Given the description of an element on the screen output the (x, y) to click on. 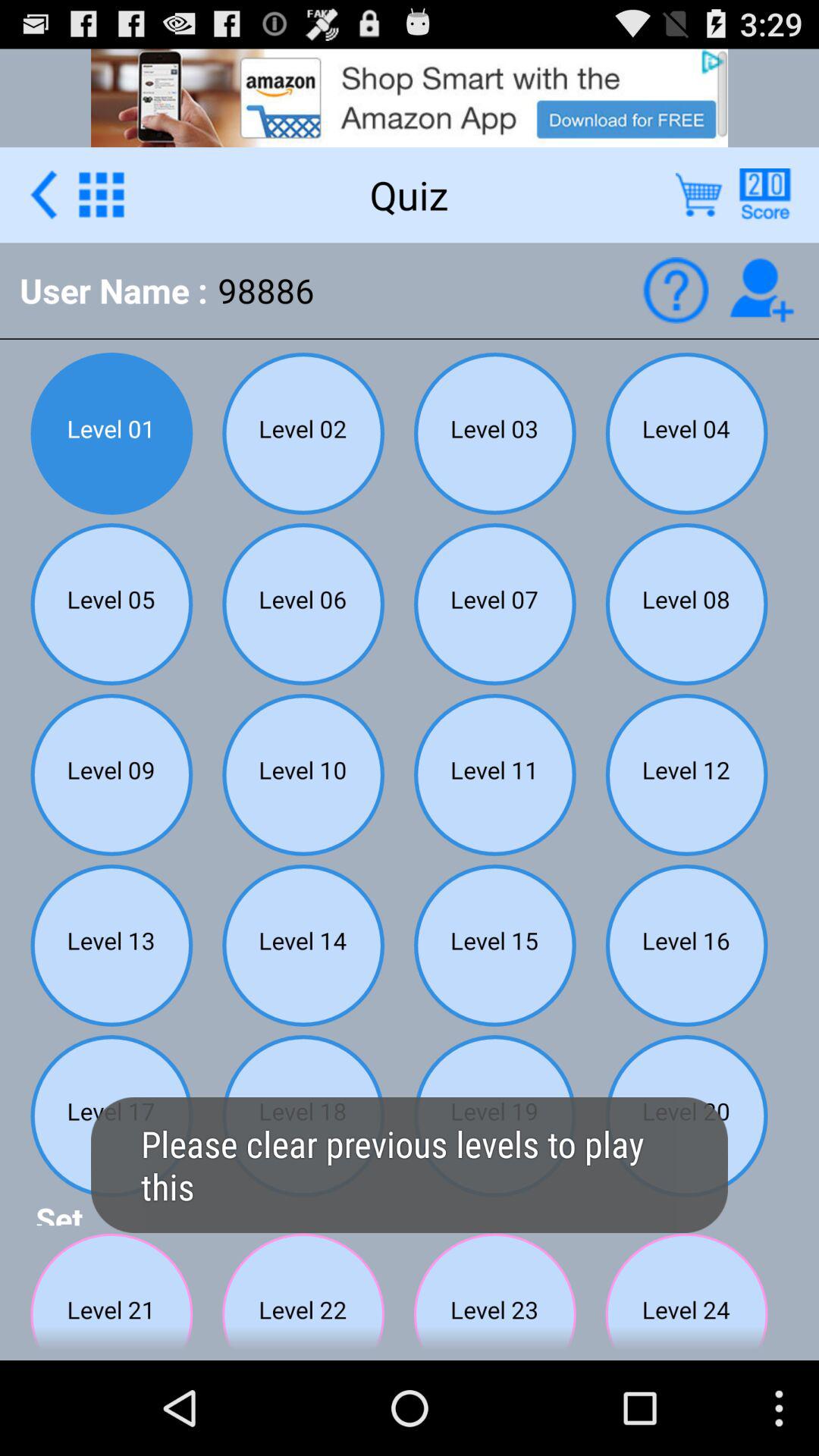
go back (43, 194)
